Given the description of an element on the screen output the (x, y) to click on. 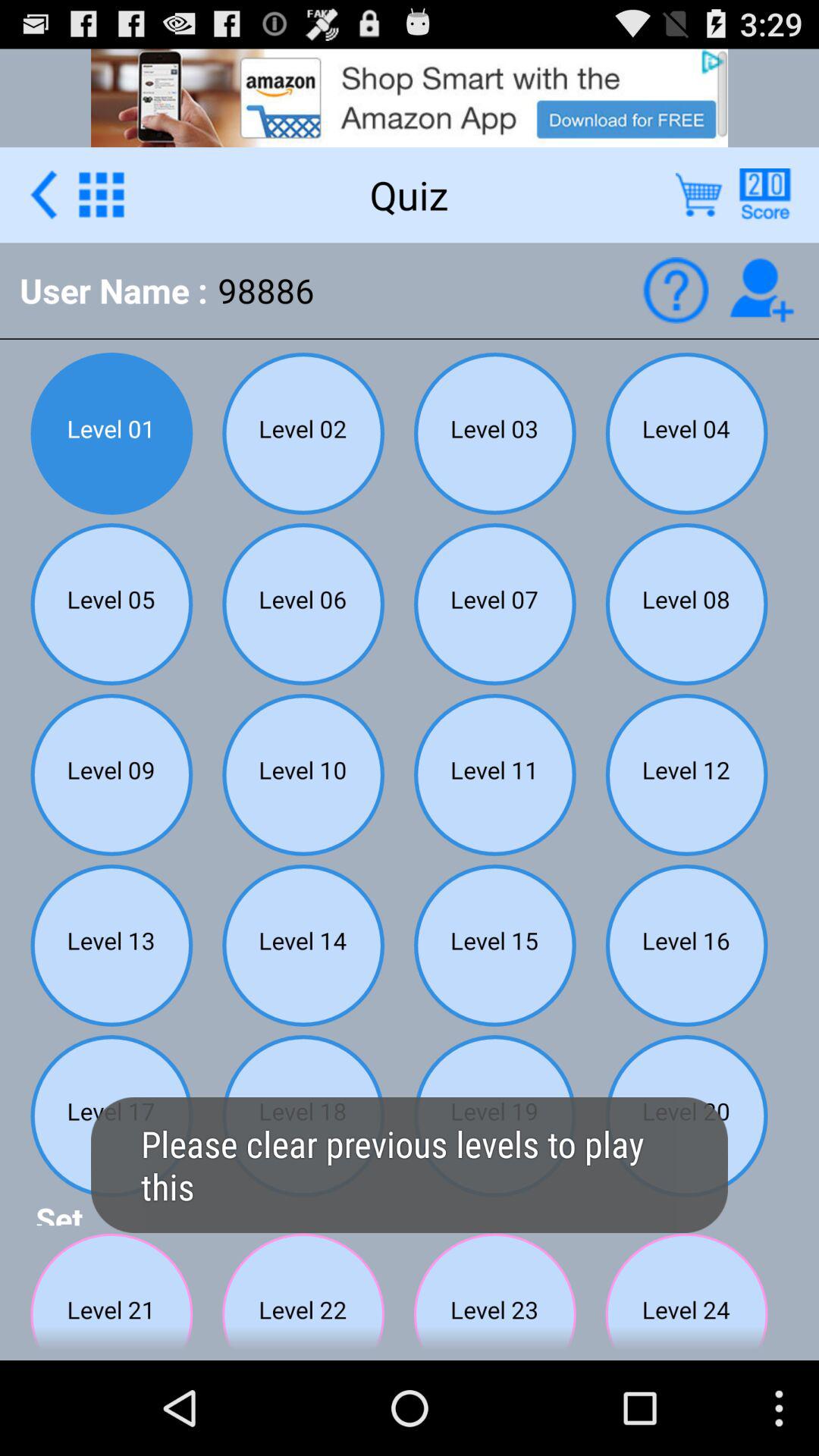
go back (43, 194)
